Given the description of an element on the screen output the (x, y) to click on. 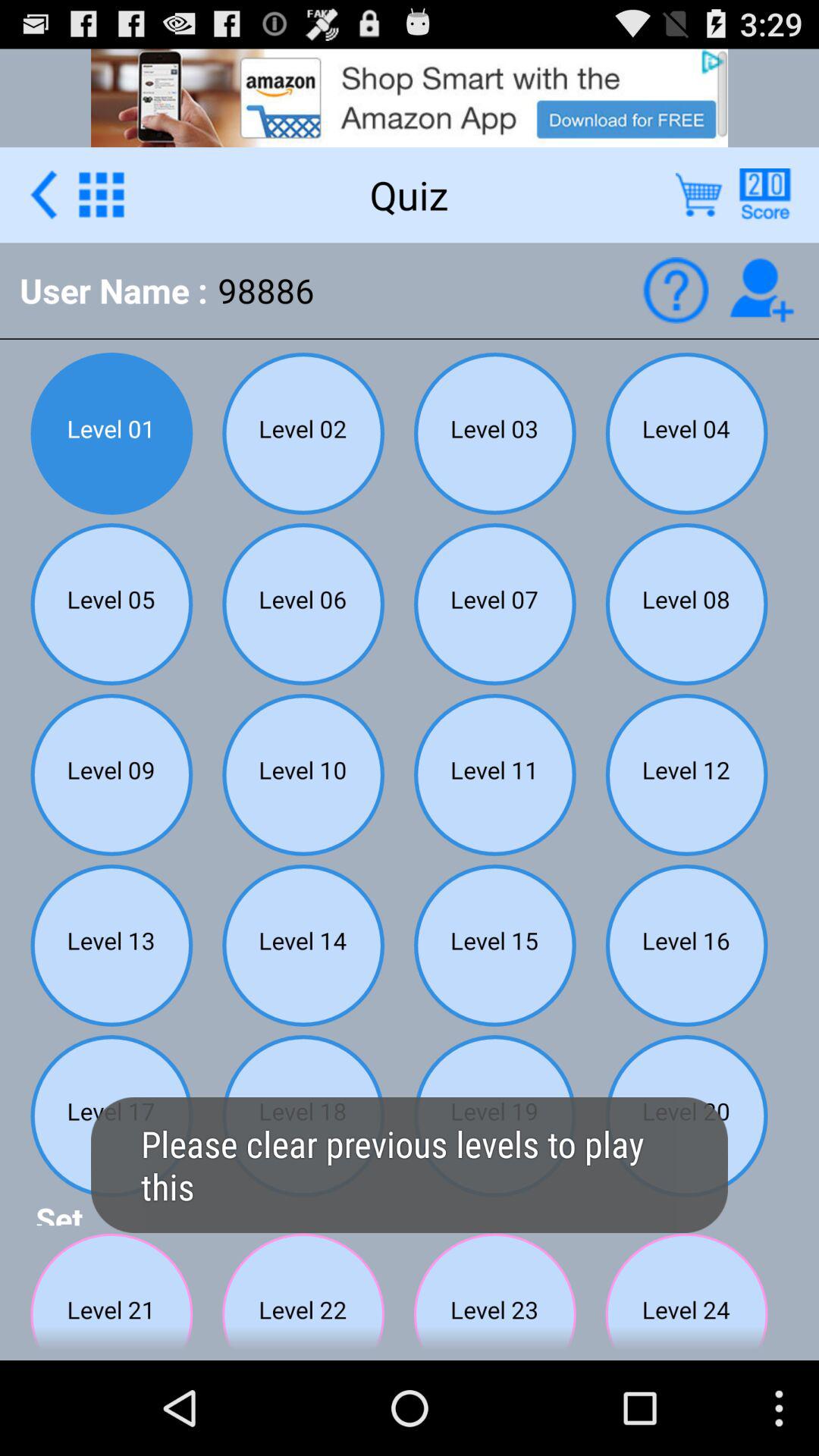
go back (43, 194)
